Given the description of an element on the screen output the (x, y) to click on. 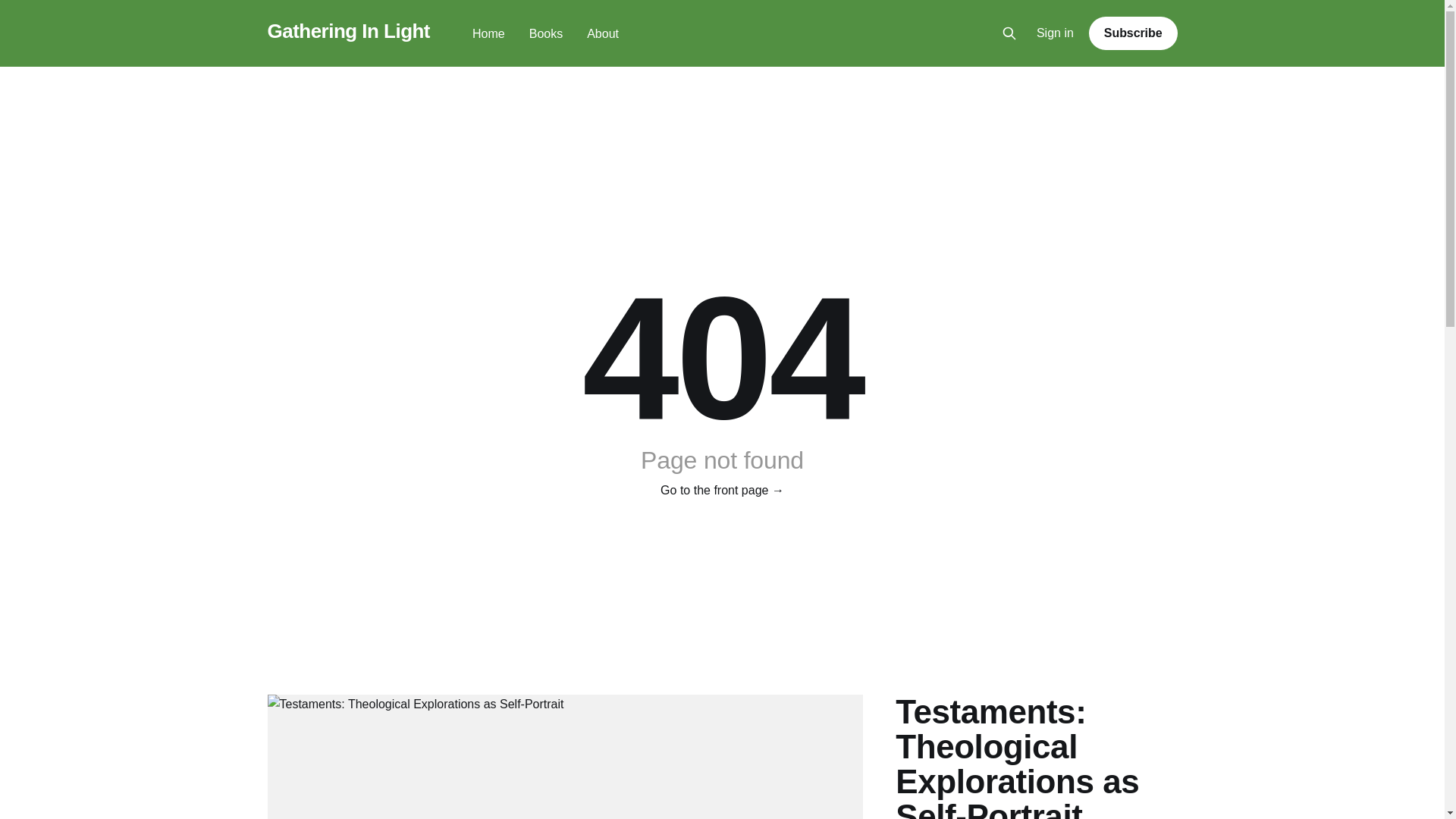
About (602, 33)
Home (488, 33)
Books (545, 33)
Gathering In Light (347, 31)
Subscribe (1133, 32)
Sign in (1055, 33)
